Given the description of an element on the screen output the (x, y) to click on. 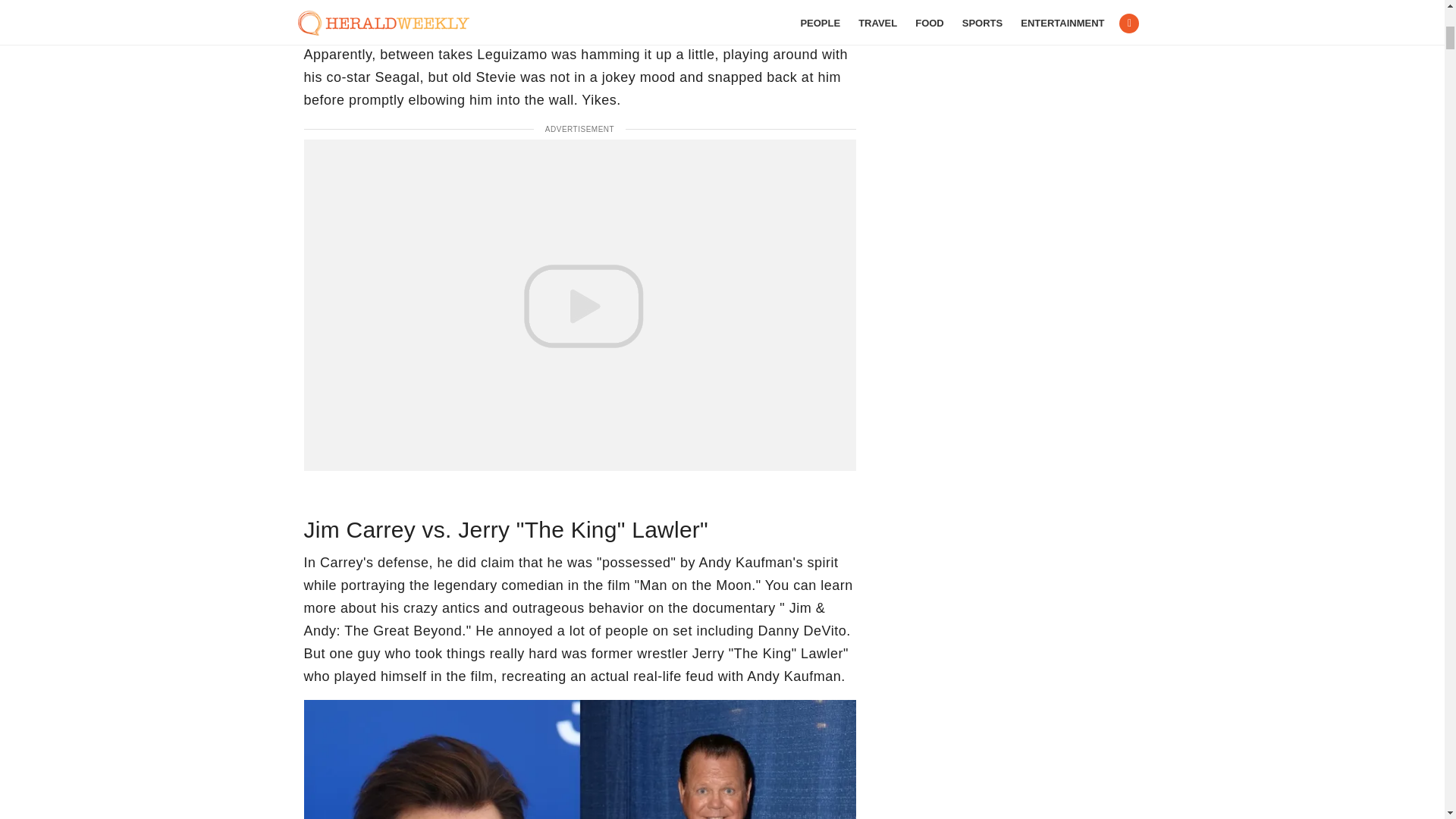
Jim Carrey vs. Jerry  (579, 759)
